Given the description of an element on the screen output the (x, y) to click on. 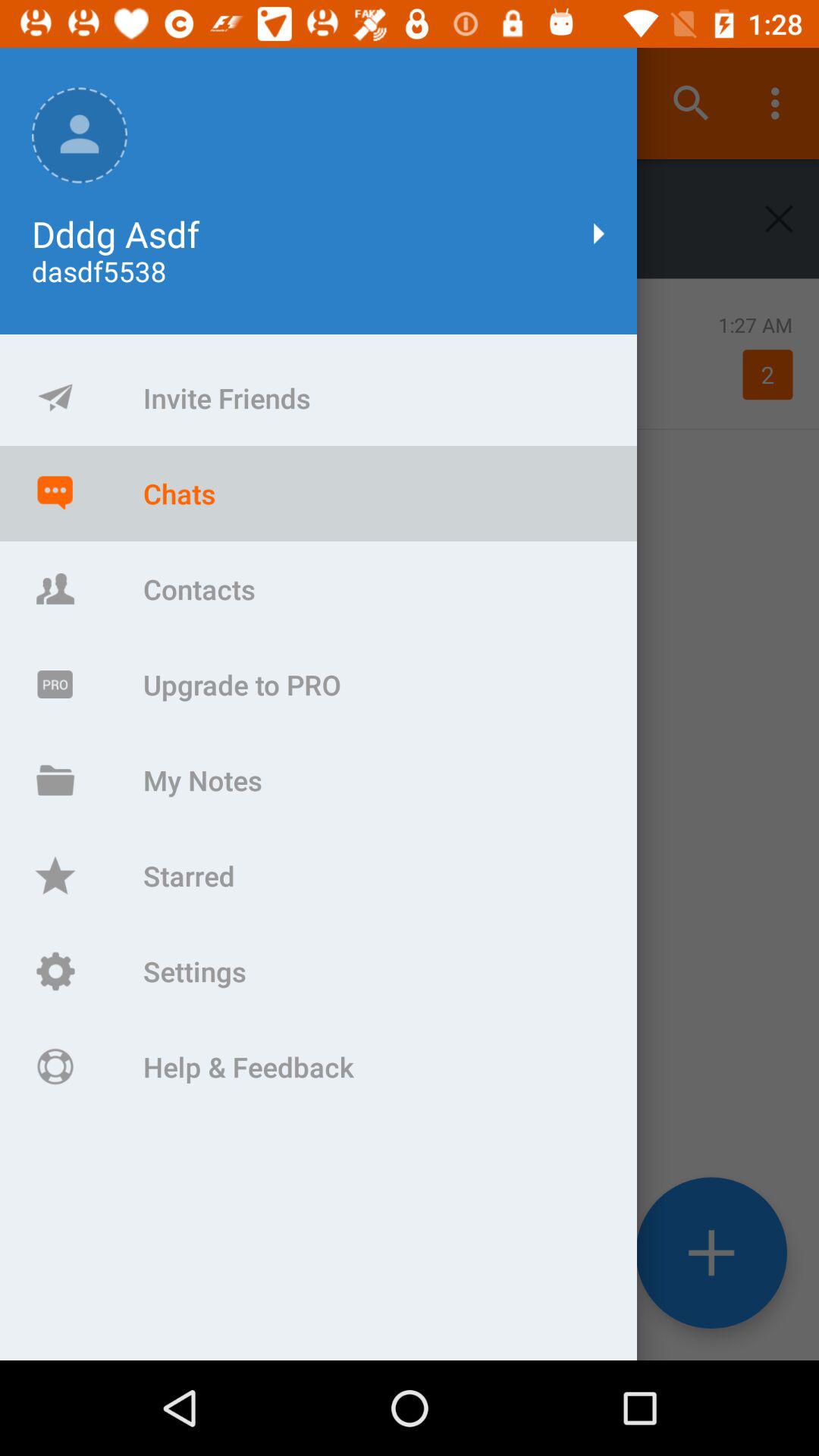
see more options (711, 1252)
